Given the description of an element on the screen output the (x, y) to click on. 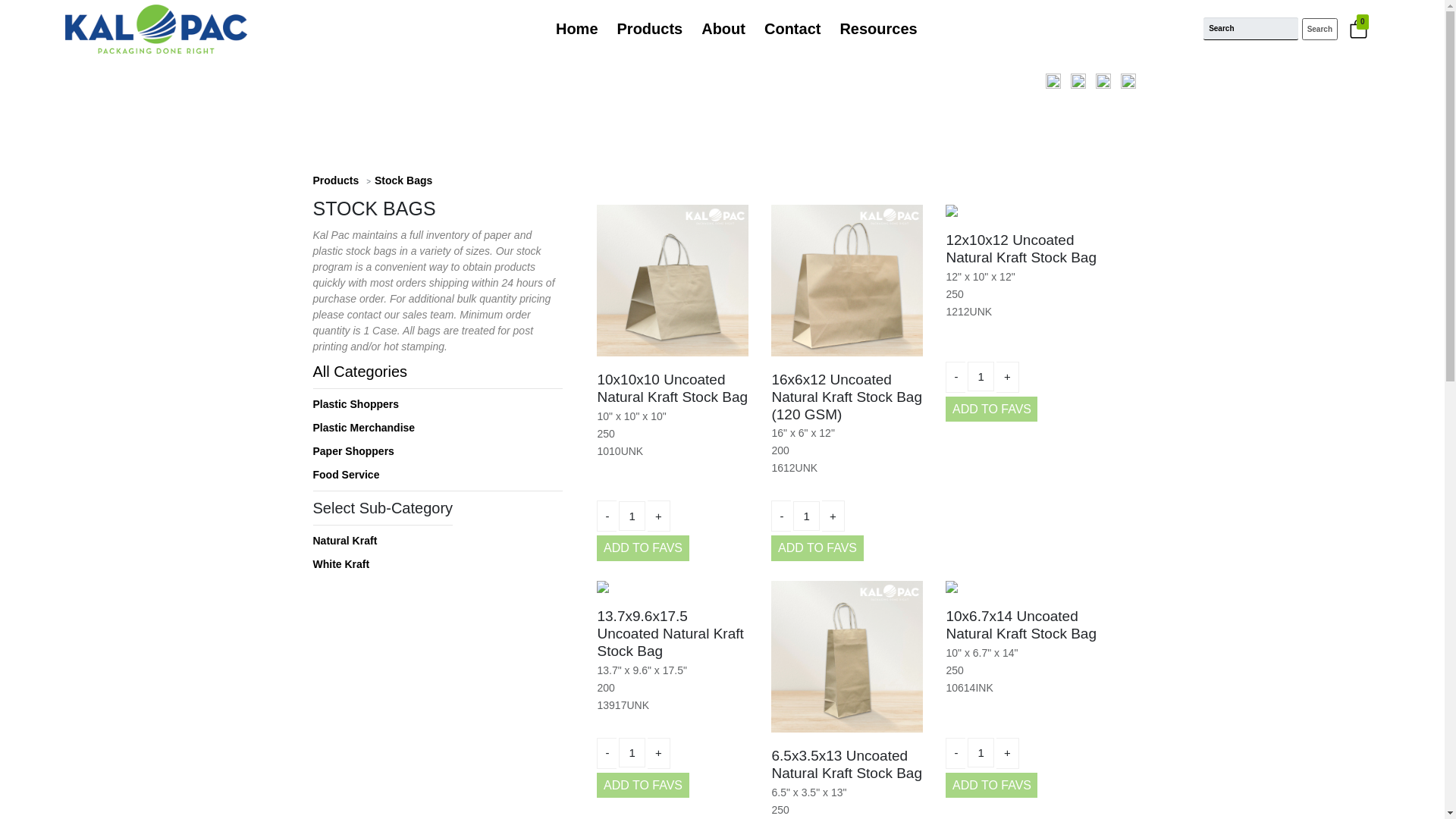
Facebook (1081, 80)
Plastic Merchandise (363, 427)
ADD TO FAVS (642, 785)
All Categories (360, 371)
TikTok (1131, 80)
Products (655, 28)
Contact (797, 28)
1 (631, 515)
Food Service (345, 474)
1 (981, 376)
White Kraft (341, 563)
LinkedIn (1107, 80)
Stock Bags (403, 180)
1 (631, 752)
ADD TO FAVS (990, 409)
